Given the description of an element on the screen output the (x, y) to click on. 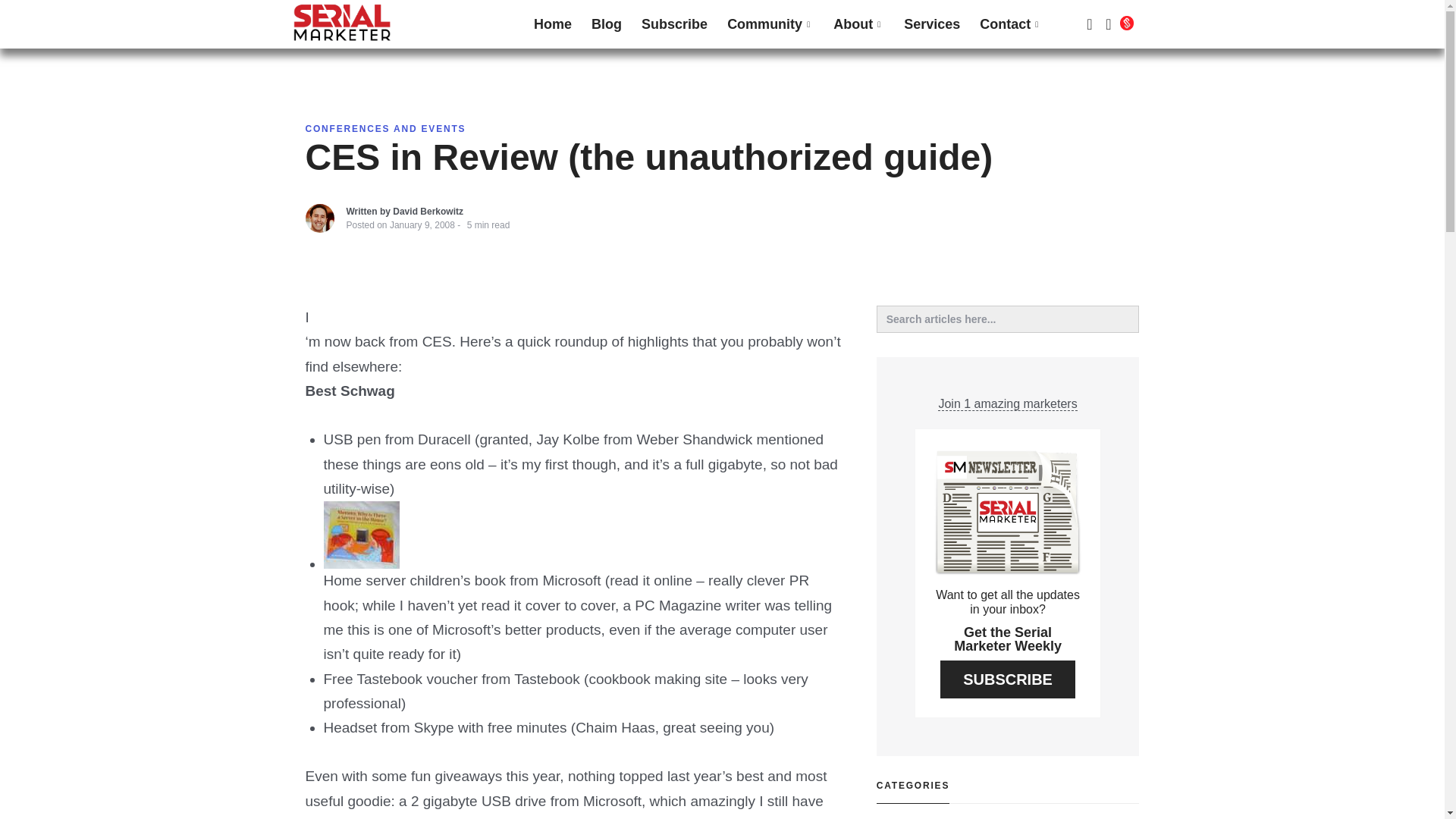
Subscribe (674, 23)
David Berkowitz (428, 211)
Skype (433, 727)
Home (552, 23)
CONFERENCES AND EVENTS (384, 128)
January 9, 2008 (422, 225)
About (858, 23)
Tastebook (546, 678)
Community (770, 23)
Services (931, 23)
Blog (605, 23)
Contact (1010, 23)
